Given the description of an element on the screen output the (x, y) to click on. 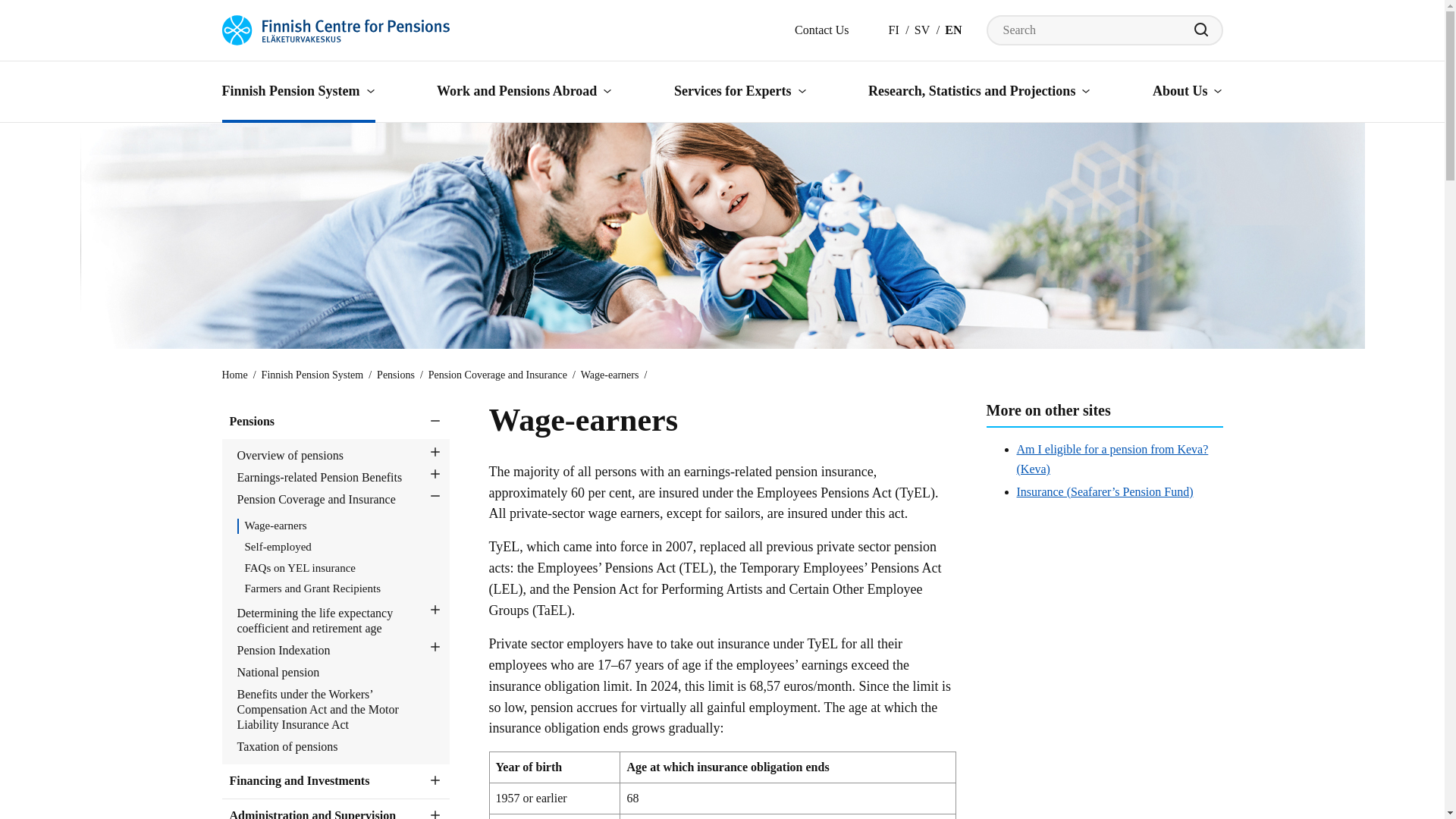
EN (952, 29)
Contact Us (821, 30)
SV (922, 29)
Finnish Pension System (297, 90)
